Given the description of an element on the screen output the (x, y) to click on. 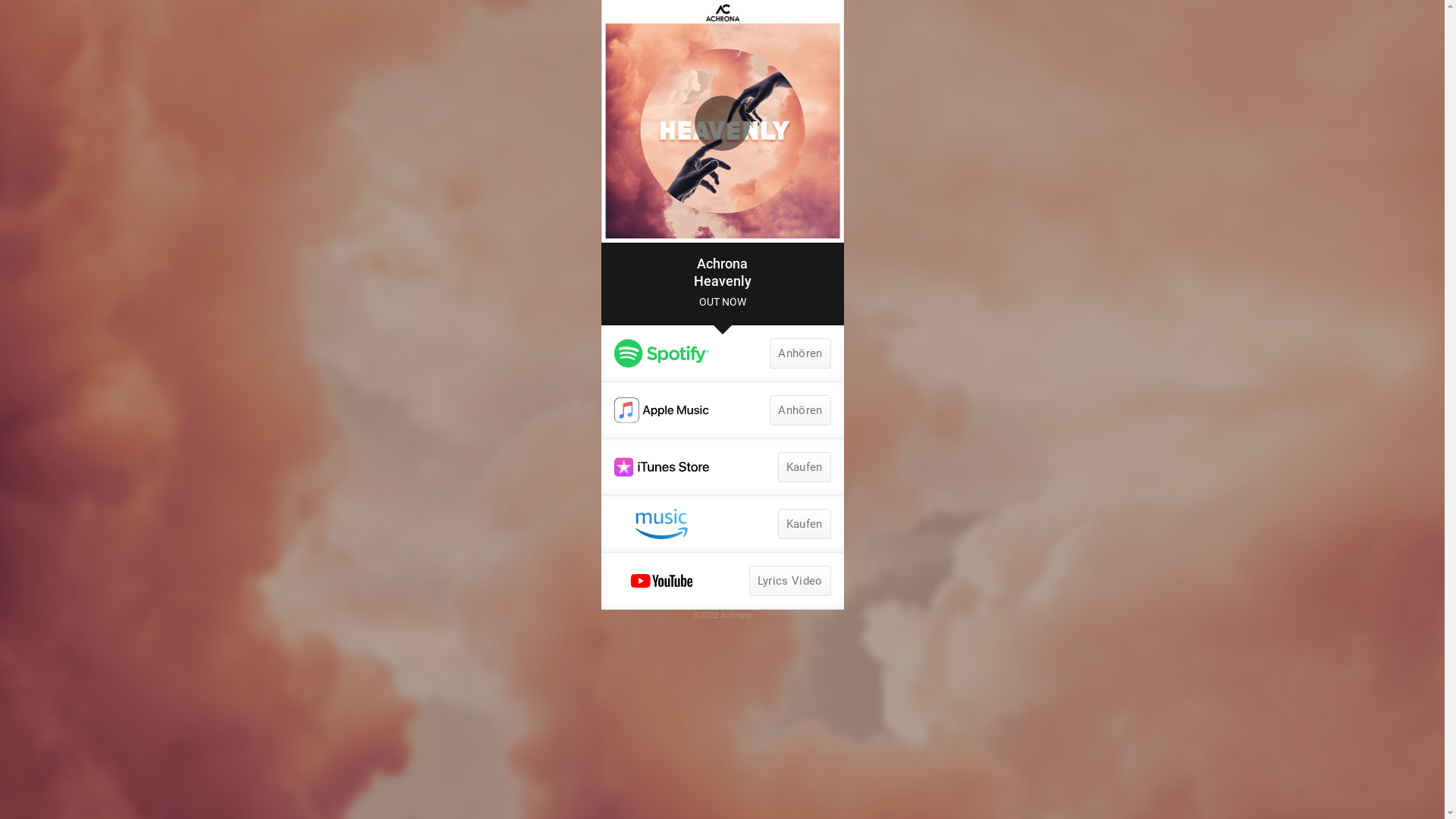
Kaufen Element type: text (721, 523)
Kaufen Element type: text (721, 467)
Lyrics Video Element type: text (790, 580)
Kaufen Element type: text (804, 466)
Achrona
Heavenly
OUT NOW Element type: text (721, 283)
Lyrics Video Element type: text (721, 580)
Kaufen Element type: text (804, 523)
